Given the description of an element on the screen output the (x, y) to click on. 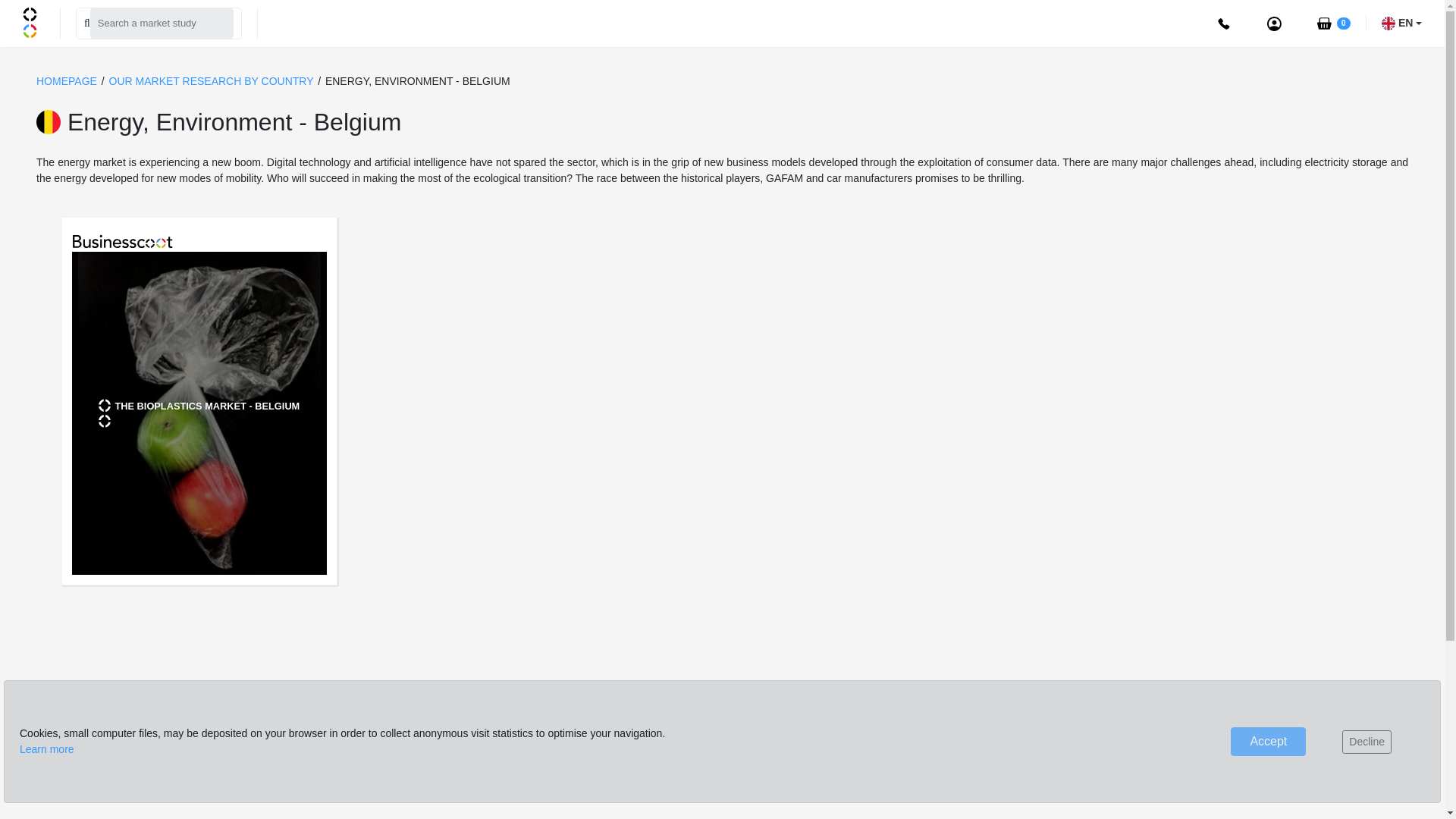
Contact (1223, 22)
Decline (1366, 740)
My account (1273, 22)
My cart (1332, 23)
0 (1332, 23)
Accept (1268, 741)
Learn more (47, 748)
OUR MARKET RESEARCH BY COUNTRY (213, 80)
EN (1401, 23)
Back to homepage (33, 21)
HOMEPAGE (66, 80)
Change language (1401, 23)
